Given the description of an element on the screen output the (x, y) to click on. 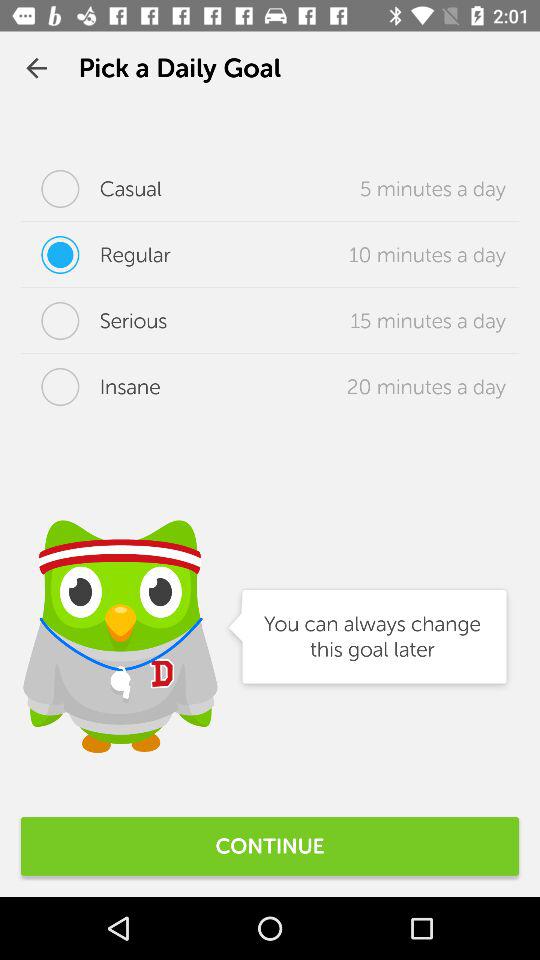
turn on the app next to the pick a daily icon (36, 68)
